Given the description of an element on the screen output the (x, y) to click on. 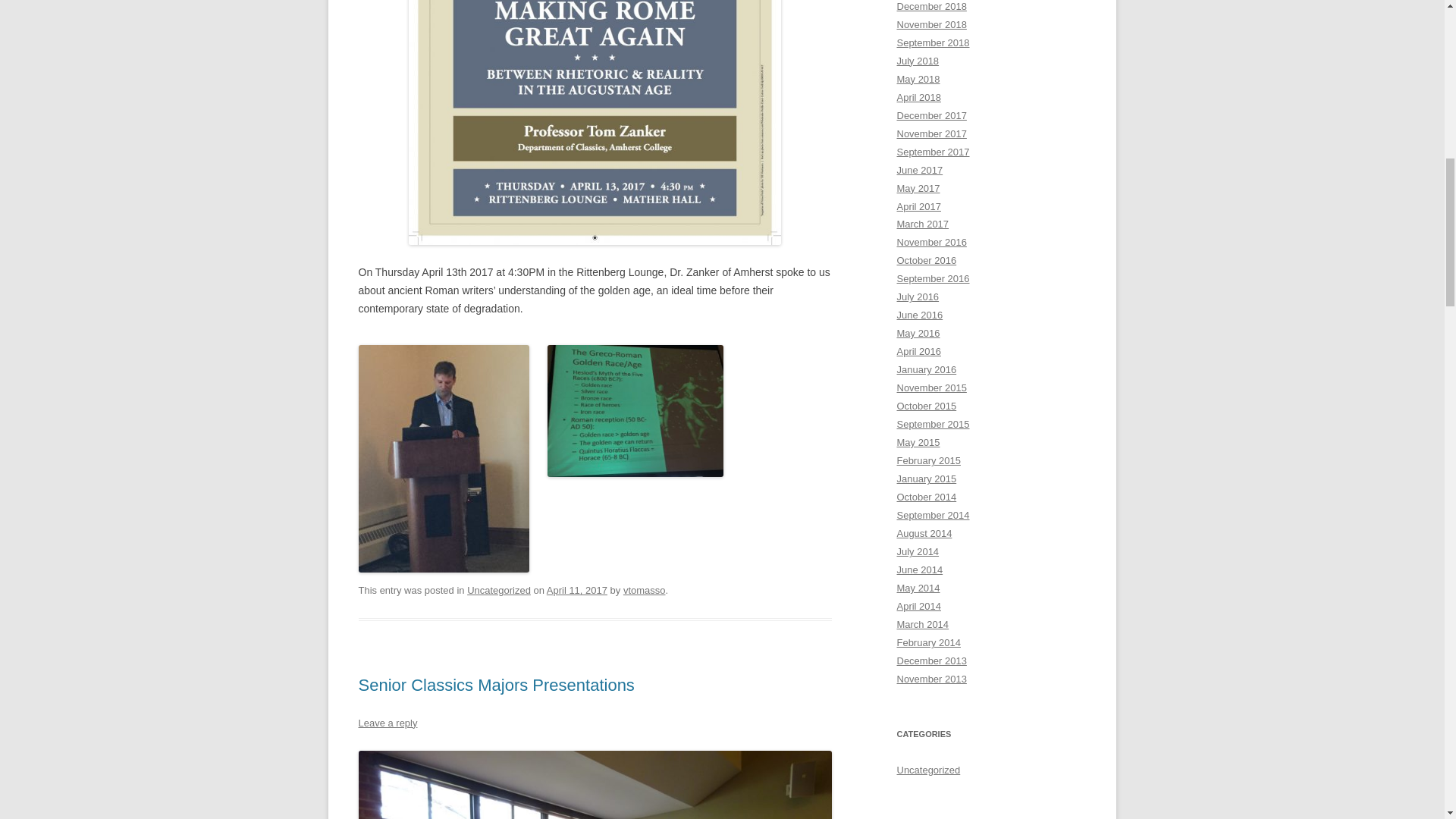
1:24 pm (577, 590)
Leave a reply (387, 722)
April 11, 2017 (577, 590)
Senior Classics Majors Presentations (495, 684)
Uncategorized (499, 590)
vtomasso (644, 590)
View all posts by vtomasso (644, 590)
